Given the description of an element on the screen output the (x, y) to click on. 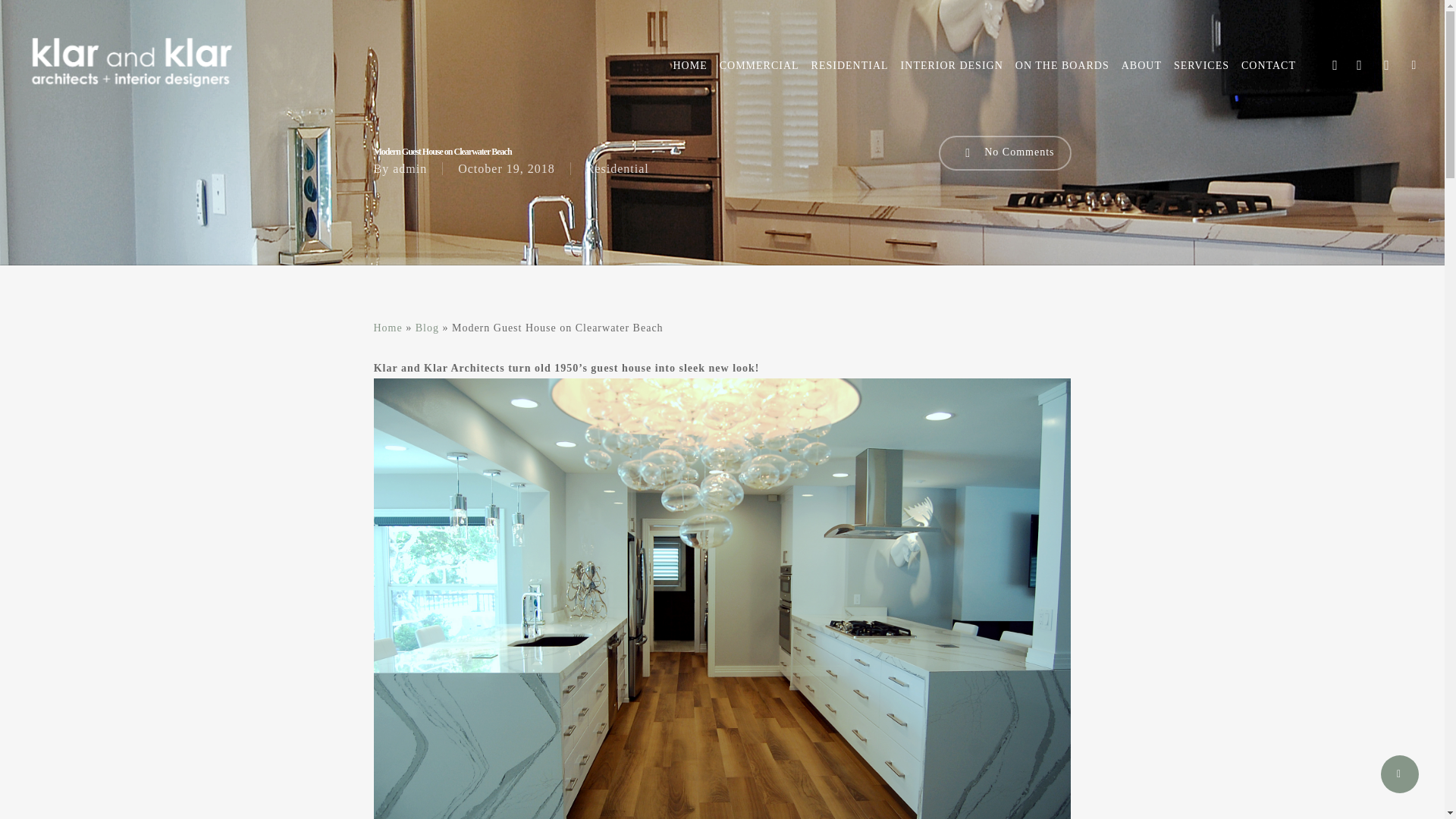
Posts by admin (409, 168)
COMMERCIAL (759, 65)
ON THE BOARDS (1062, 65)
LINKEDIN (1359, 65)
INSTAGRAM (1386, 65)
No Comments (1005, 152)
admin (409, 168)
CONTACT (1267, 65)
INTERIOR DESIGN (952, 65)
HOME (689, 65)
